Given the description of an element on the screen output the (x, y) to click on. 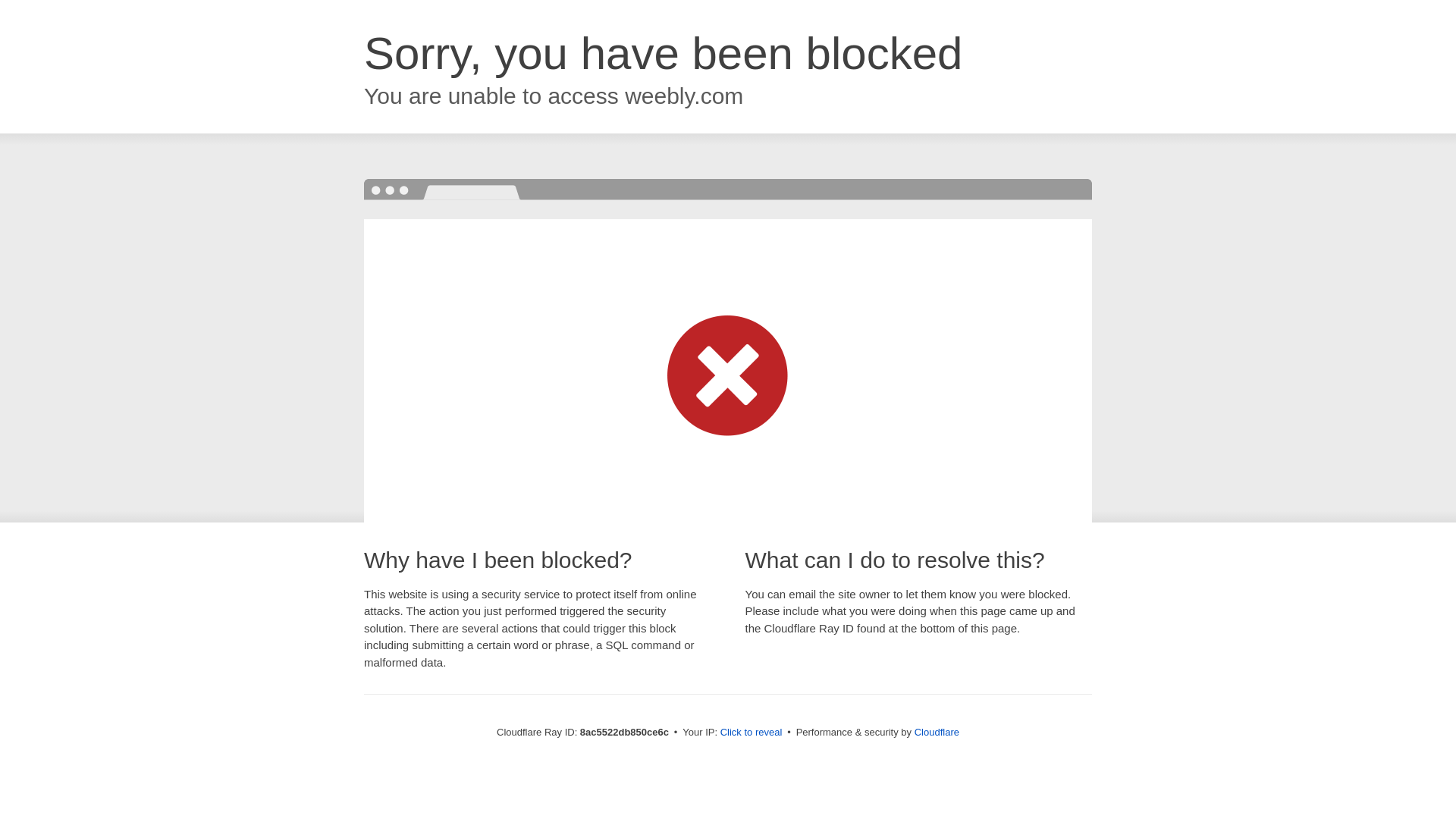
Click to reveal (749, 732)
Cloudflare (935, 731)
